Given the description of an element on the screen output the (x, y) to click on. 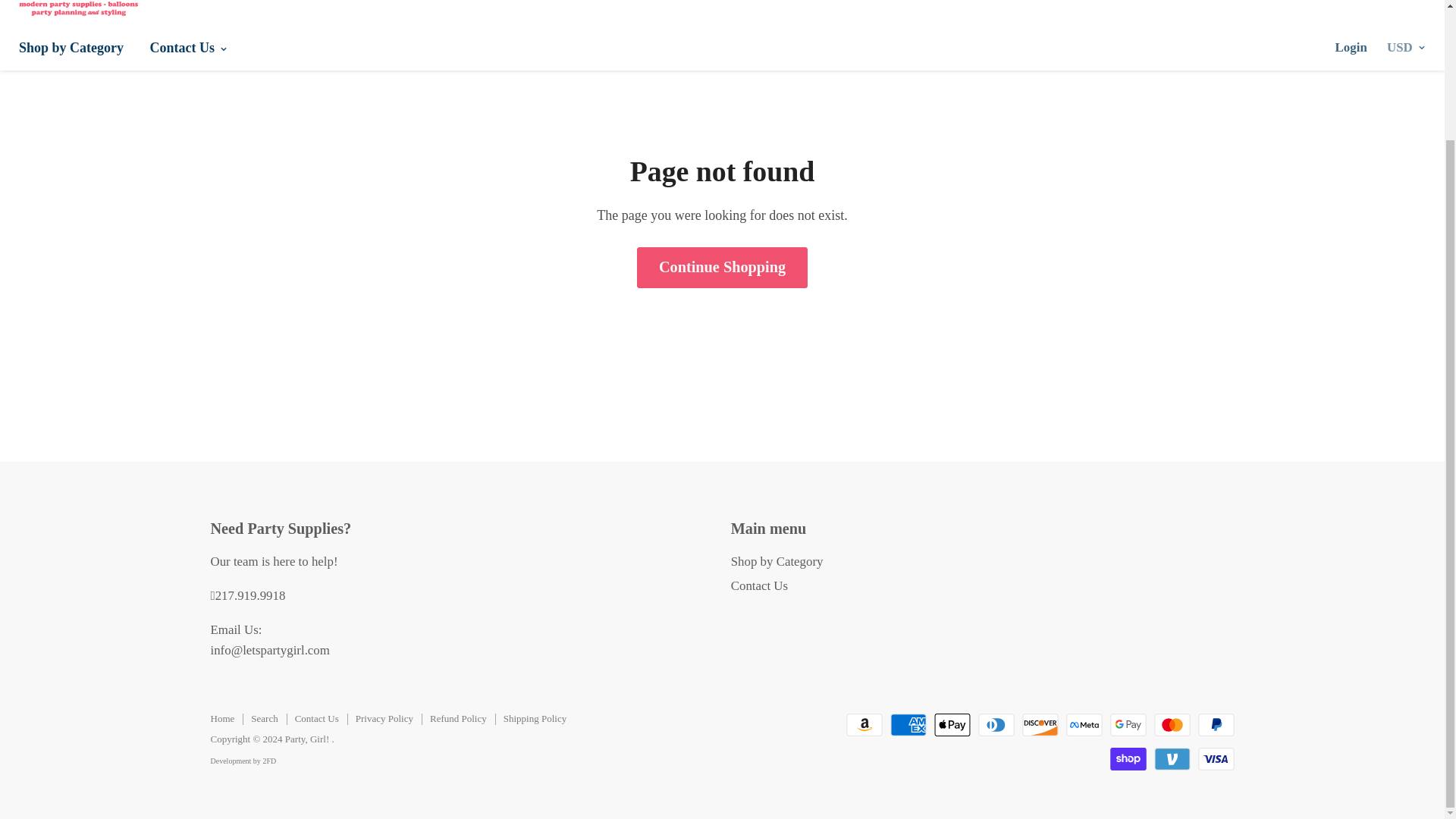
Shop by Category (777, 561)
Contact Us (186, 47)
Discover (1040, 724)
Shipping Policy (534, 717)
Shop Pay (1128, 758)
Home (222, 717)
Search (264, 717)
Meta Pay (1083, 724)
PayPal (1216, 724)
Privacy Policy (384, 717)
Continue Shopping (722, 267)
Shop by Category (71, 47)
Amazon (863, 724)
Contact Us (758, 585)
Venmo (1172, 758)
